Given the description of an element on the screen output the (x, y) to click on. 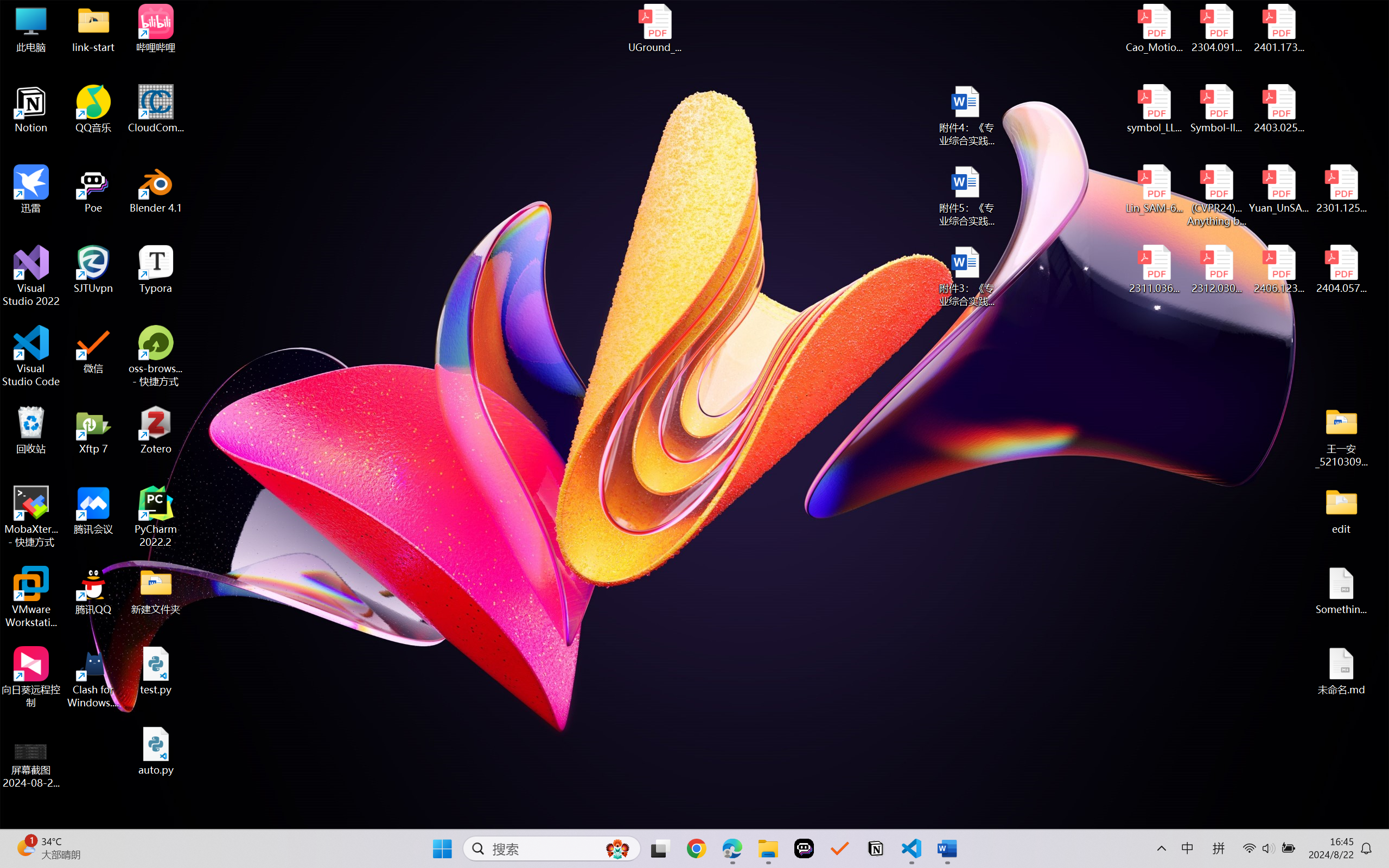
Something.md (1340, 591)
Blender 4.1 (156, 189)
2311.03658v2.pdf (1154, 269)
PyCharm 2022.2 (156, 516)
CloudCompare (156, 109)
Symbol-llm-v2.pdf (1216, 109)
